Given the description of an element on the screen output the (x, y) to click on. 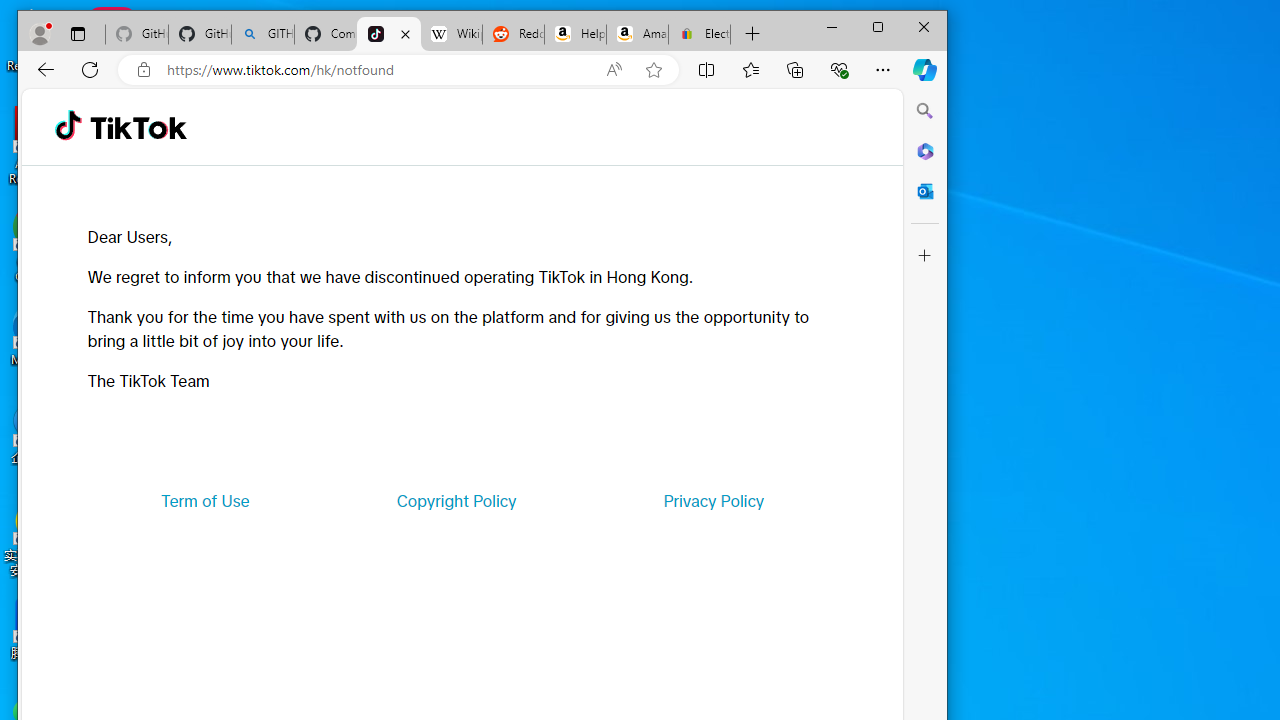
Privacy Policy (713, 500)
Electronics, Cars, Fashion, Collectibles & More | eBay (699, 34)
